Given the description of an element on the screen output the (x, y) to click on. 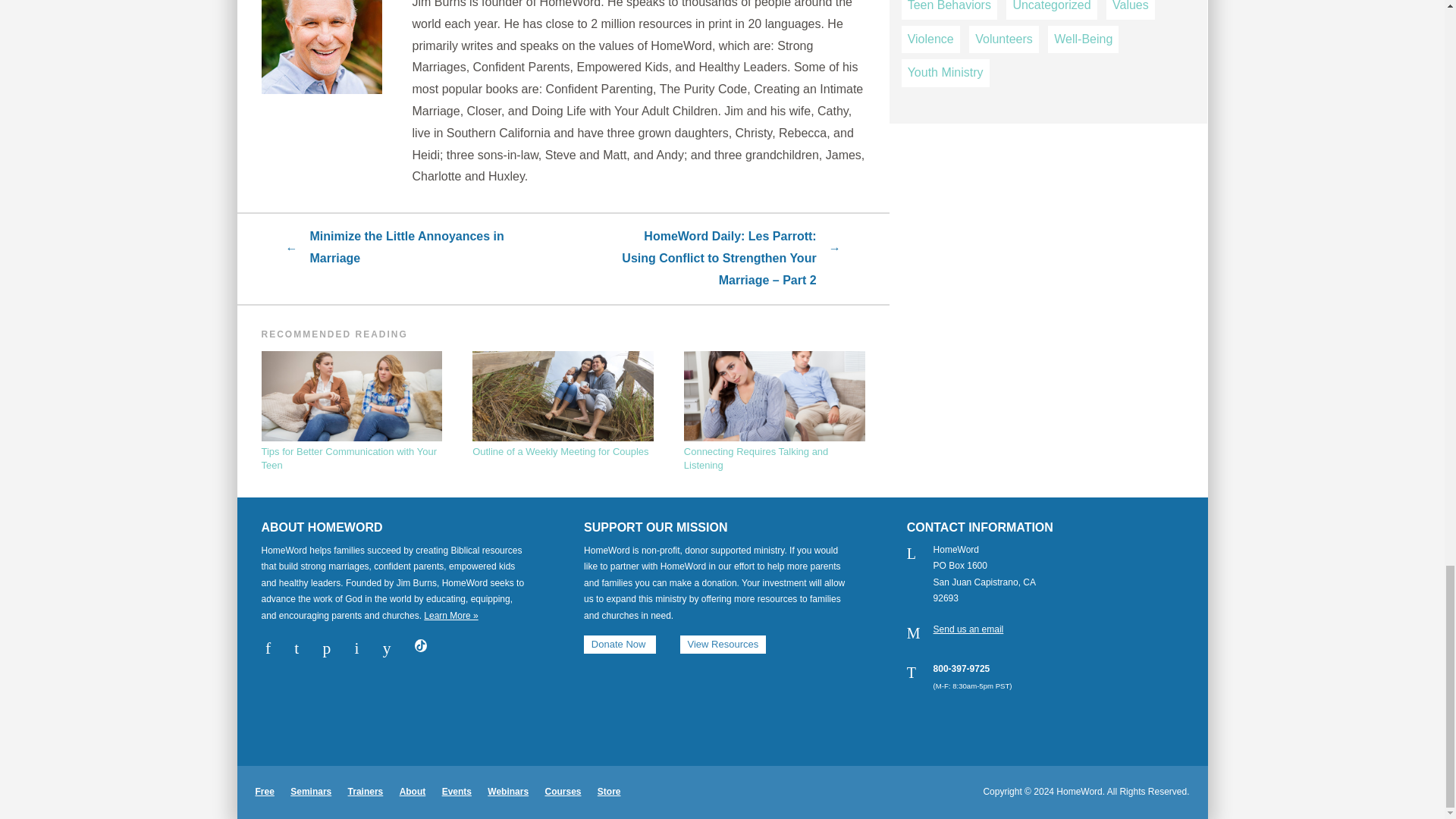
Permanent Link to Outline of a Weekly Meeting for Couples (562, 405)
Permanent Link to Connecting Requires Talking and Listening (774, 412)
